Given the description of an element on the screen output the (x, y) to click on. 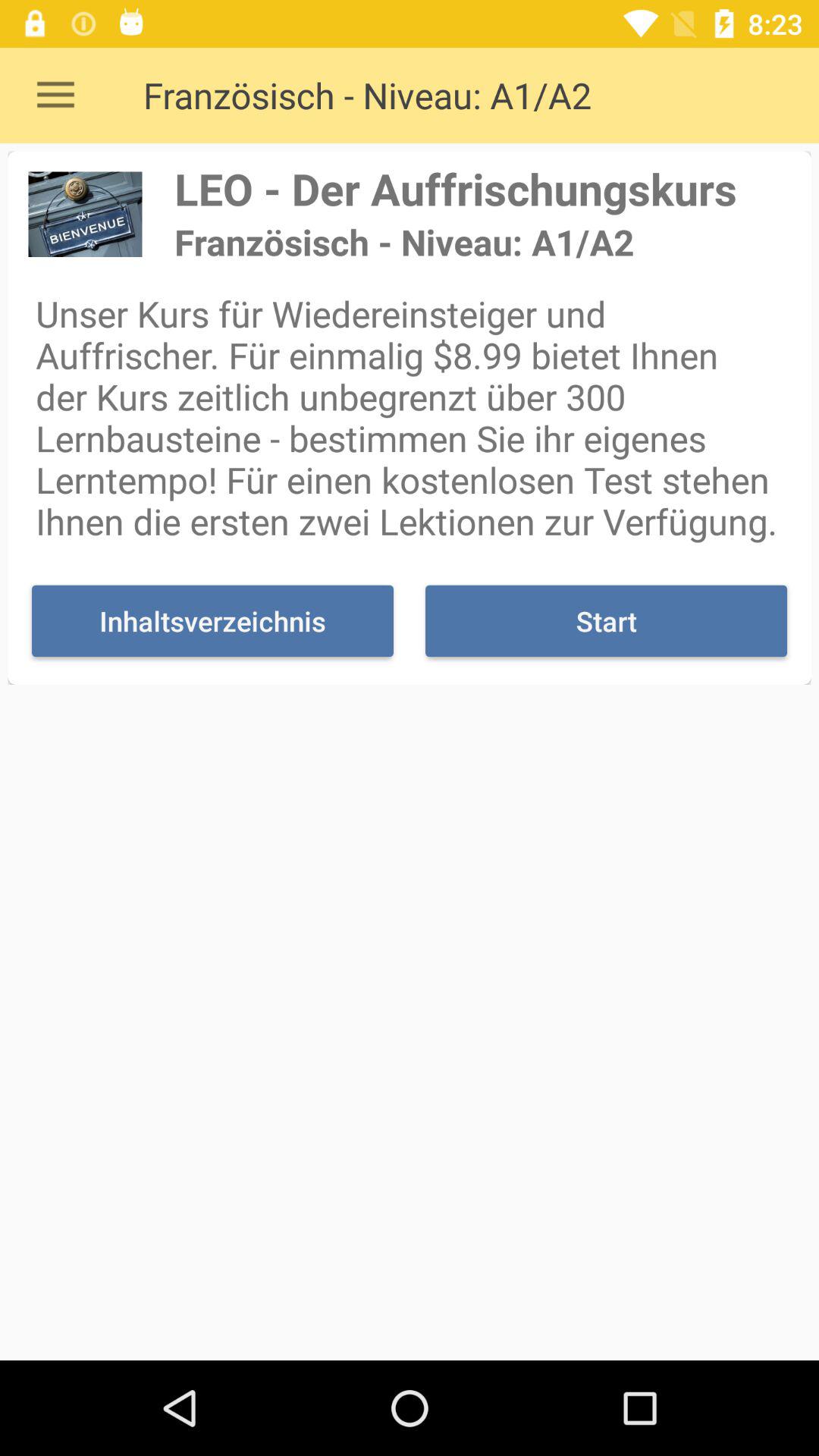
flip until the start (606, 620)
